Given the description of an element on the screen output the (x, y) to click on. 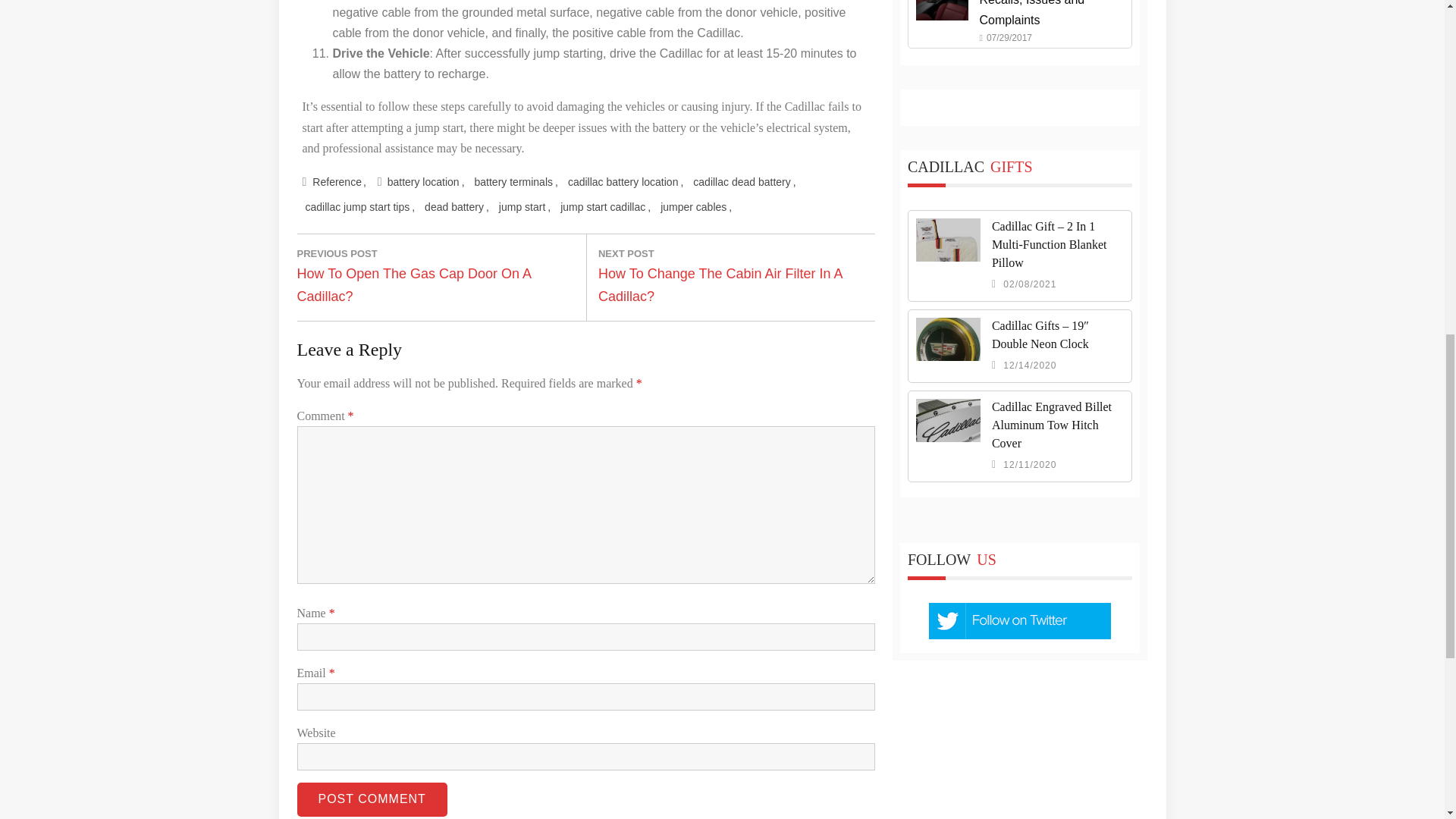
battery location (425, 182)
Reference (338, 182)
Post Comment (371, 799)
